Given the description of an element on the screen output the (x, y) to click on. 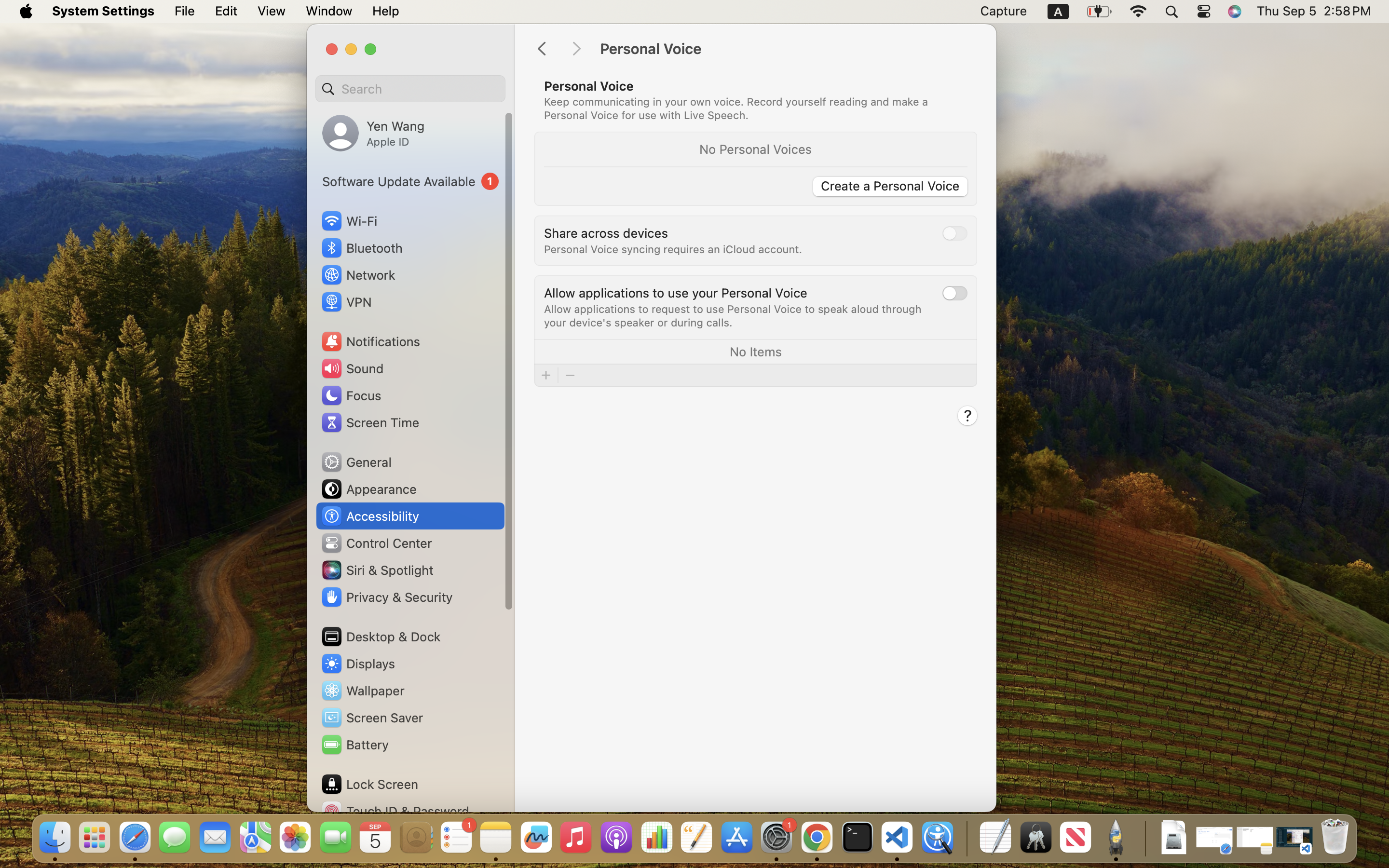
Wallpaper Element type: AXStaticText (362, 690)
Personal Voice Element type: AXStaticText (788, 49)
Screen Time Element type: AXStaticText (369, 422)
Share across devices Element type: AXStaticText (606, 232)
Accessibility Element type: AXStaticText (369, 515)
